Given the description of an element on the screen output the (x, y) to click on. 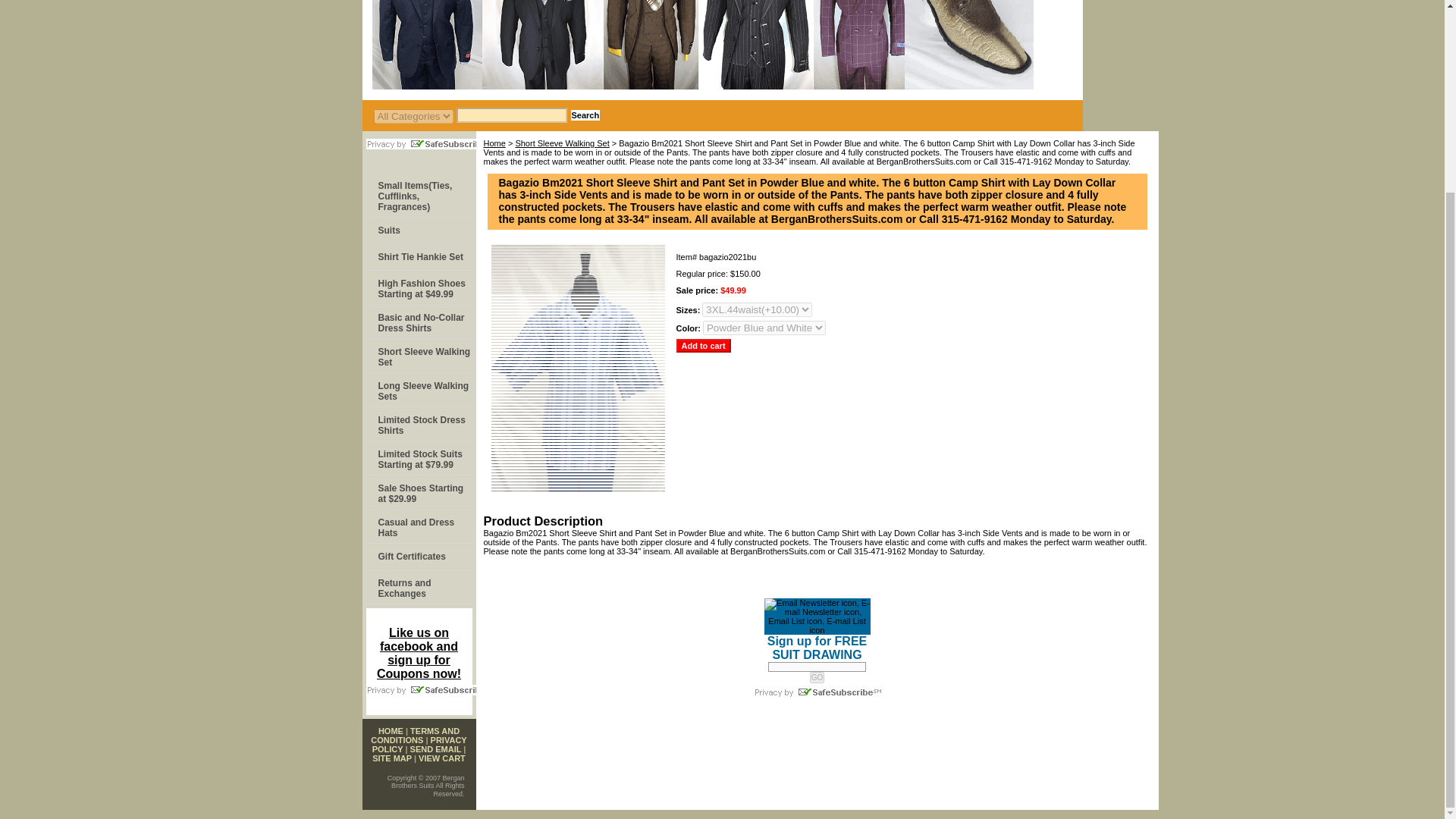
SITE MAP (392, 757)
Casual and Dress Hats (419, 526)
Add to cart (703, 345)
GO (817, 677)
Search (584, 114)
Add to cart (703, 345)
Home (494, 143)
TERMS AND CONDITIONS (415, 735)
SEND EMAIL (435, 748)
Limited Stock Dress Shirts (419, 424)
